Given the description of an element on the screen output the (x, y) to click on. 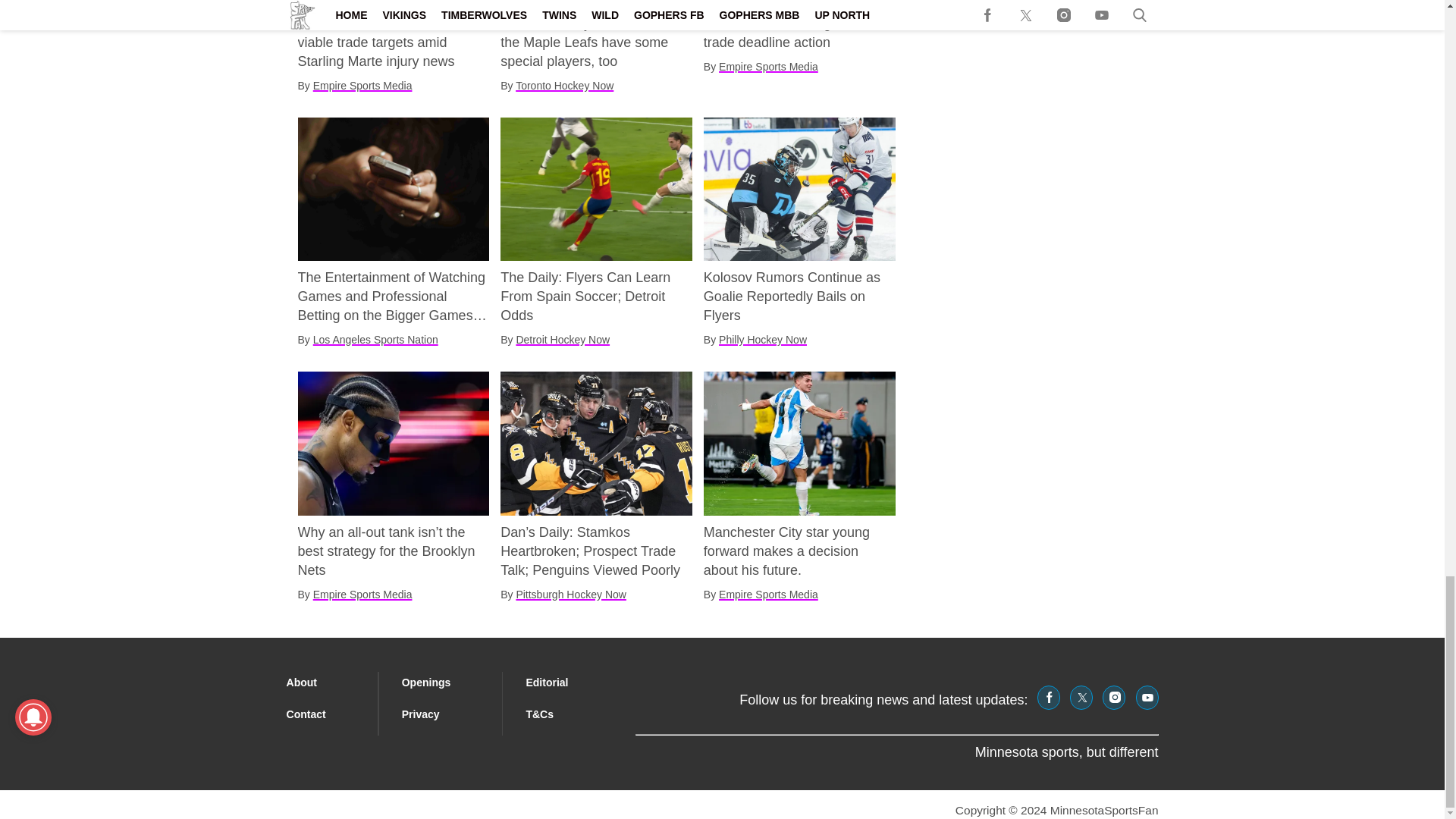
Follow us on Instagram (1113, 697)
Toronto Hockey Now (563, 85)
Follow us on Twitter (1081, 697)
Empire Sports Media (362, 85)
Follow us on Facebook (1047, 697)
Subscribe to our YouTube channel (1146, 697)
